Given the description of an element on the screen output the (x, y) to click on. 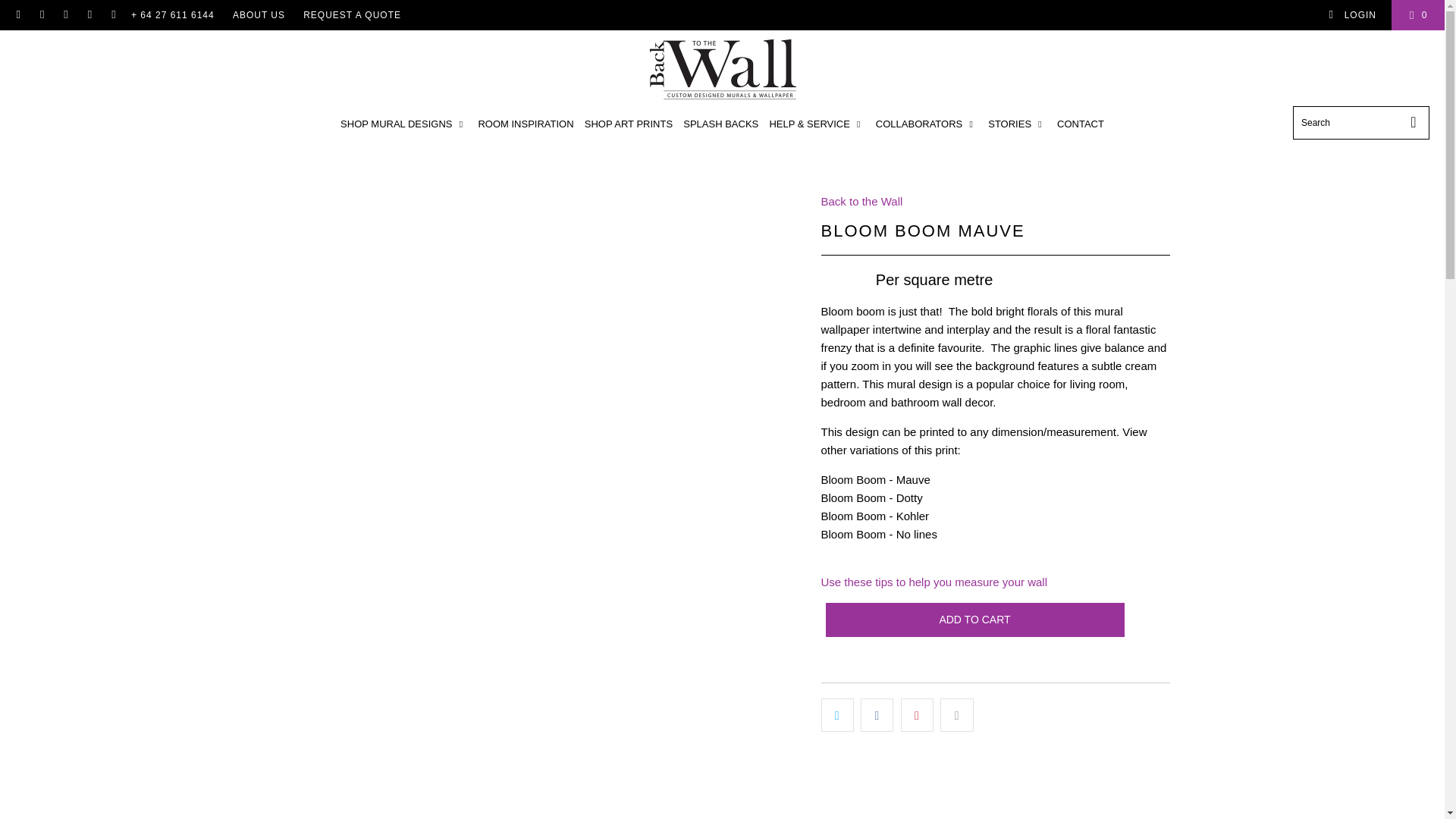
Share this on Twitter (837, 715)
Back To The Wall on Pinterest (65, 14)
Back To The Wall on YouTube (41, 14)
Back to the Wall (861, 201)
Back To The Wall on Instagram (89, 14)
Share this on Facebook (876, 715)
Email Back To The Wall (112, 14)
Email this to a friend (956, 715)
Share this on Pinterest (917, 715)
My Account  (1351, 15)
